Given the description of an element on the screen output the (x, y) to click on. 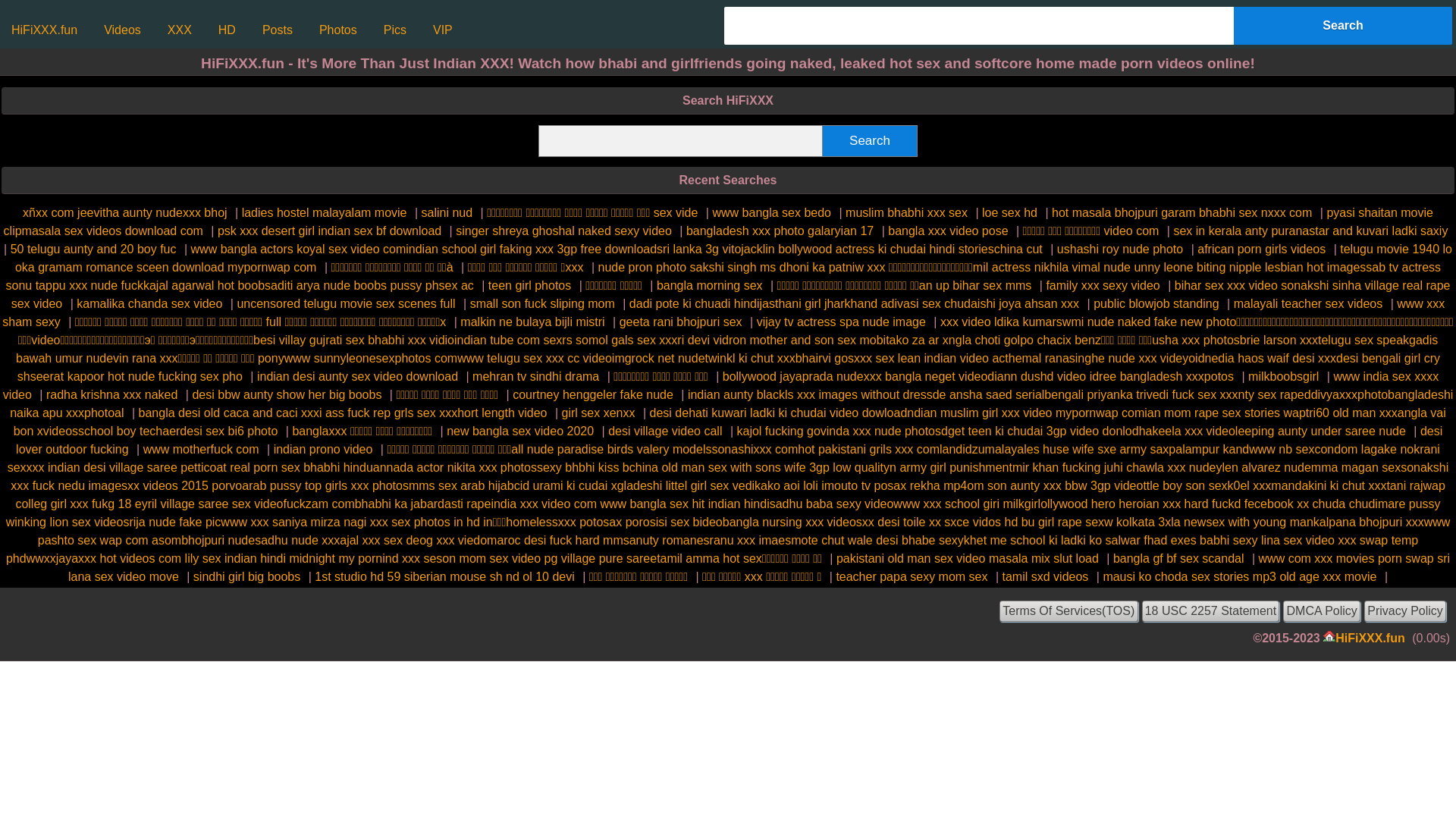
bangla morning sex Element type: text (709, 285)
geeta rani bhojpuri sex Element type: text (680, 321)
bangla gf bf sex scandal Element type: text (1178, 558)
courtney henggeler fake nude Element type: text (592, 394)
www com xxx movies porn swap sri lana sex video move Element type: text (758, 567)
sex in kerala anty puranastar and kuvari ladki saxiy Element type: text (1310, 230)
HD Element type: text (226, 29)
Pics Element type: text (395, 29)
vijay tv actress spa nude image Element type: text (840, 321)
psk xxx desert girl indian sex bf download Element type: text (329, 230)
malkin ne bulaya bijli mistri Element type: text (532, 321)
loe sex hd Element type: text (1009, 212)
malayali teacher sex videos Element type: text (1308, 303)
pyasi shaitan movie clipmasala sex videos download com Element type: text (718, 221)
muslim bhabhi xxx sex Element type: text (906, 212)
www motherfuck com Element type: text (201, 448)
small son fuck sliping mom Element type: text (542, 303)
desi lover outdoor fucking Element type: text (728, 439)
Search Element type: text (869, 140)
mausi ko choda sex stories mp3 old age xxx movie Element type: text (1239, 576)
ushashi roy nude photo Element type: text (1120, 248)
1st studio hd 59 siberian mouse sh nd ol 10 devi Element type: text (444, 576)
kamalika chanda sex video Element type: text (149, 303)
Search Element type: text (1342, 25)
public blowjob standing Element type: text (1155, 303)
Posts Element type: text (277, 29)
www xxx sham sexy Element type: text (723, 312)
indian desi aunty sex video download Element type: text (357, 376)
Videos Element type: text (122, 29)
Terms Of Services(TOS) Element type: text (1068, 610)
bangla xxx video pose Element type: text (947, 230)
salini nud Element type: text (447, 212)
girl sex xenxx Element type: text (598, 412)
www india sex xxxx video Element type: text (721, 385)
desi village video call Element type: text (664, 430)
50 telugu aunty and 20 boy fuc Element type: text (93, 248)
Privacy Policy Element type: text (1405, 610)
DMCA Policy Element type: text (1321, 610)
Photos Element type: text (337, 29)
uncensored telugu movie sex scenes full Element type: text (345, 303)
mehran tv sindhi drama Element type: text (535, 376)
HiFiXXX.fun Element type: text (43, 29)
bangladesh xxx photo galaryian 17 Element type: text (779, 230)
family xxx sexy video Element type: text (1102, 285)
VIP Element type: text (442, 29)
african porn girls videos Element type: text (1261, 248)
HiFiXXX.fun Element type: text (1370, 638)
milkboobsgirl Element type: text (1283, 376)
teacher papa sexy mom sex Element type: text (911, 576)
18 USC 2257 Statement Element type: text (1211, 610)
indian prono video Element type: text (323, 448)
ladies hostel malayalam movie Element type: text (324, 212)
pakistani old man sex video masala mix slut load Element type: text (967, 558)
singer shreya ghoshal naked sexy video Element type: text (563, 230)
teen girl photos Element type: text (529, 285)
tamil sxd videos Element type: text (1045, 576)
XXX Element type: text (179, 29)
sindhi girl big boobs Element type: text (246, 576)
new bangla sex video 2020 Element type: text (519, 430)
hot masala bhojpuri garam bhabhi sex nxxx com Element type: text (1181, 212)
radha krishna xxx naked Element type: text (111, 394)
www bangla sex bedo Element type: text (771, 212)
desi bbw aunty show her big boobs Element type: text (286, 394)
